Given the description of an element on the screen output the (x, y) to click on. 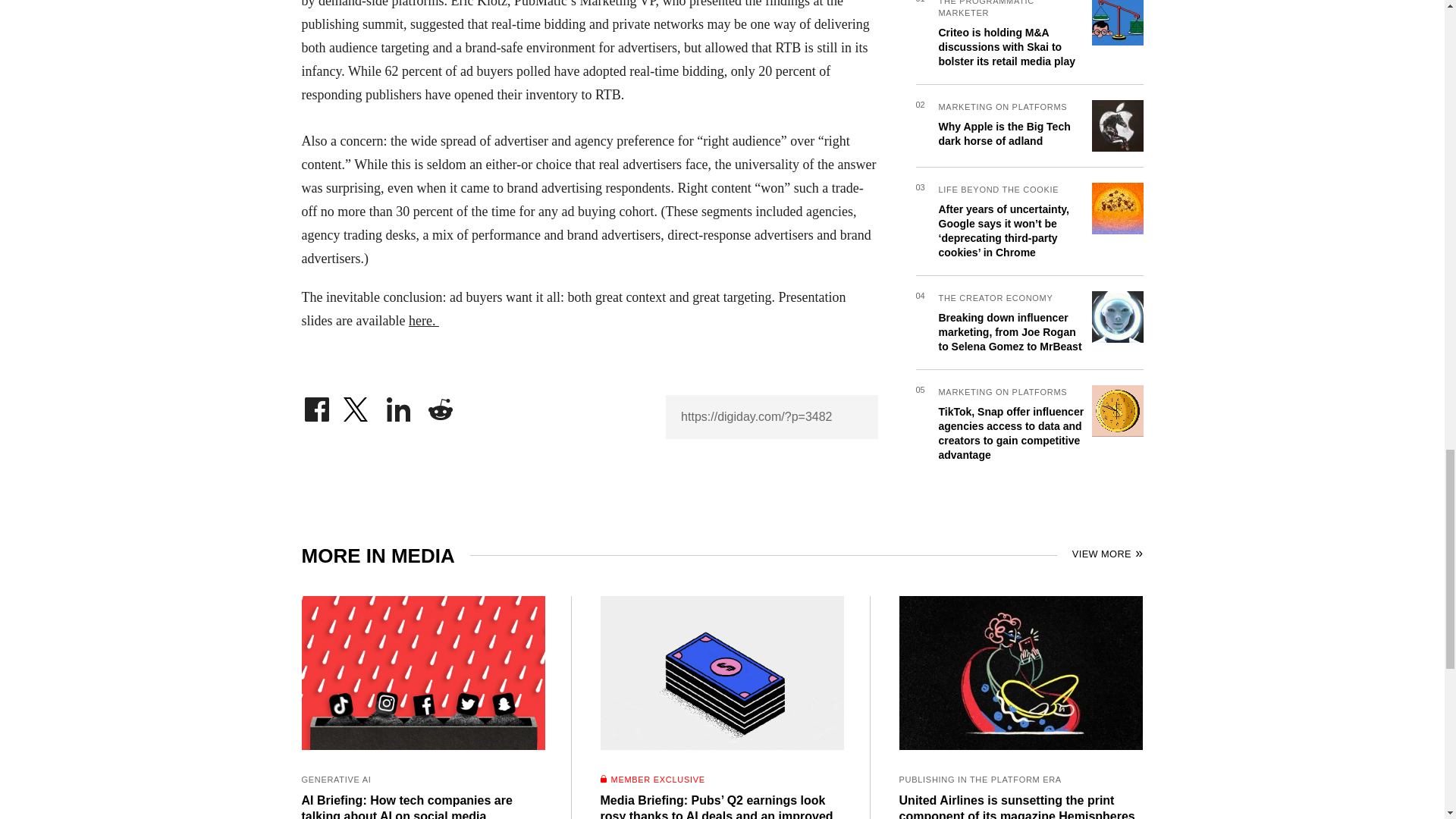
Share on Twitter (357, 405)
Share on LinkedIn (398, 405)
Why Apple is the Big Tech dark horse of adland (1004, 124)
Share on Reddit (440, 405)
Share on Facebook (316, 405)
